Given the description of an element on the screen output the (x, y) to click on. 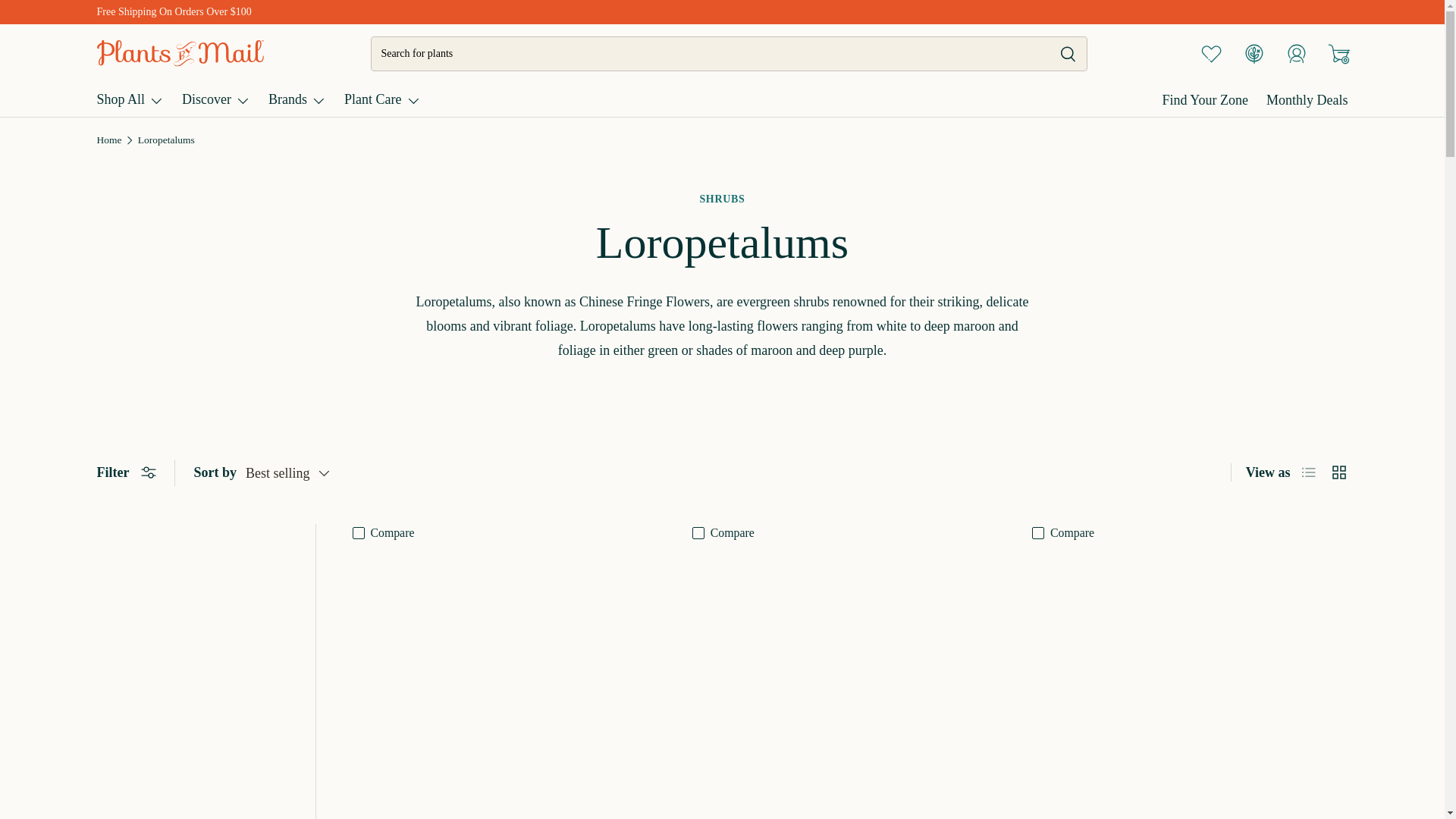
Search (1059, 54)
SKIP TO CONTENT (84, 28)
Cart (1338, 52)
Shop All (130, 99)
Log in (1296, 52)
